Given the description of an element on the screen output the (x, y) to click on. 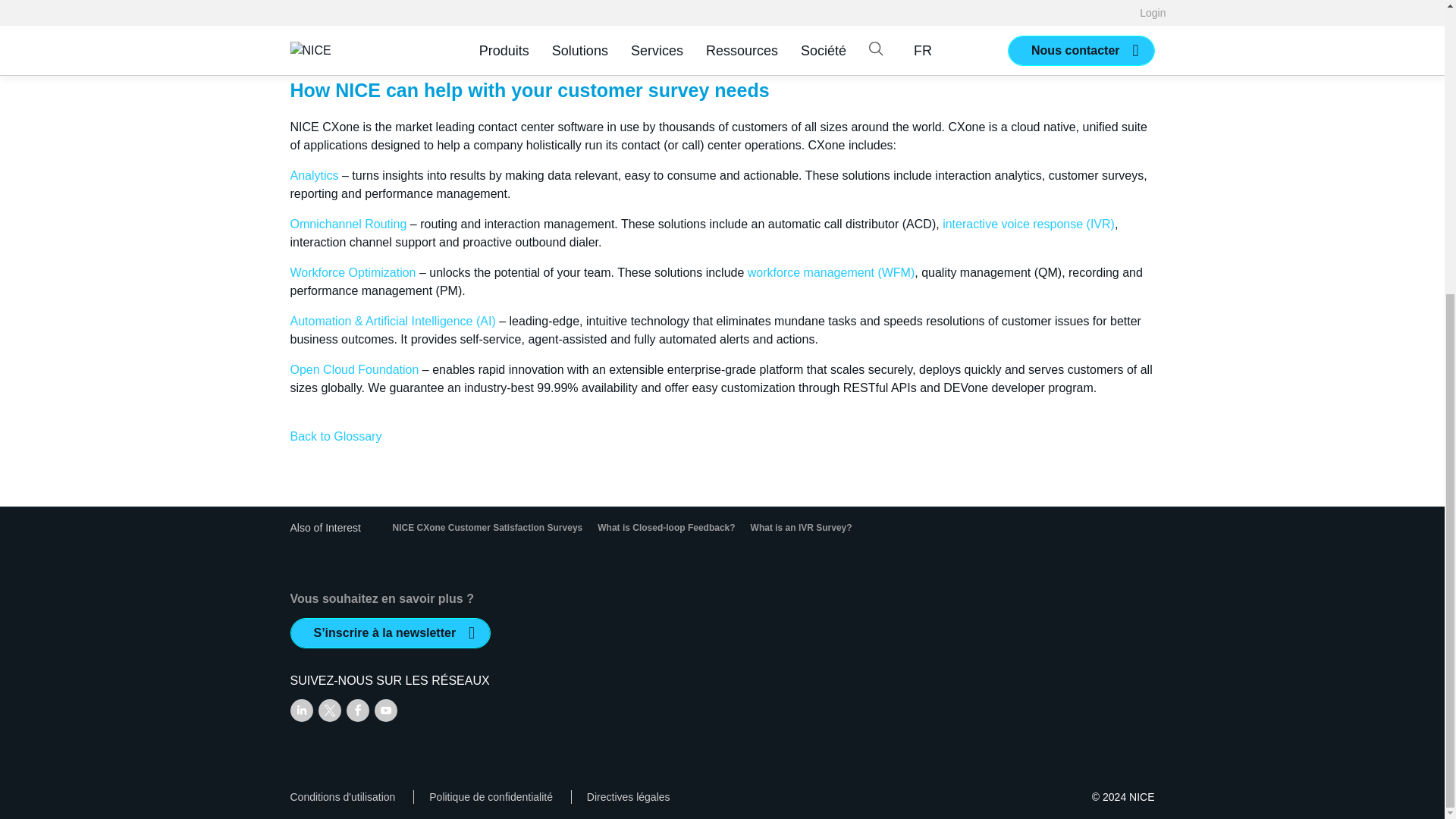
Facebook (357, 710)
Twitter (329, 710)
LinkedIn (301, 710)
Youtube (385, 710)
